Given the description of an element on the screen output the (x, y) to click on. 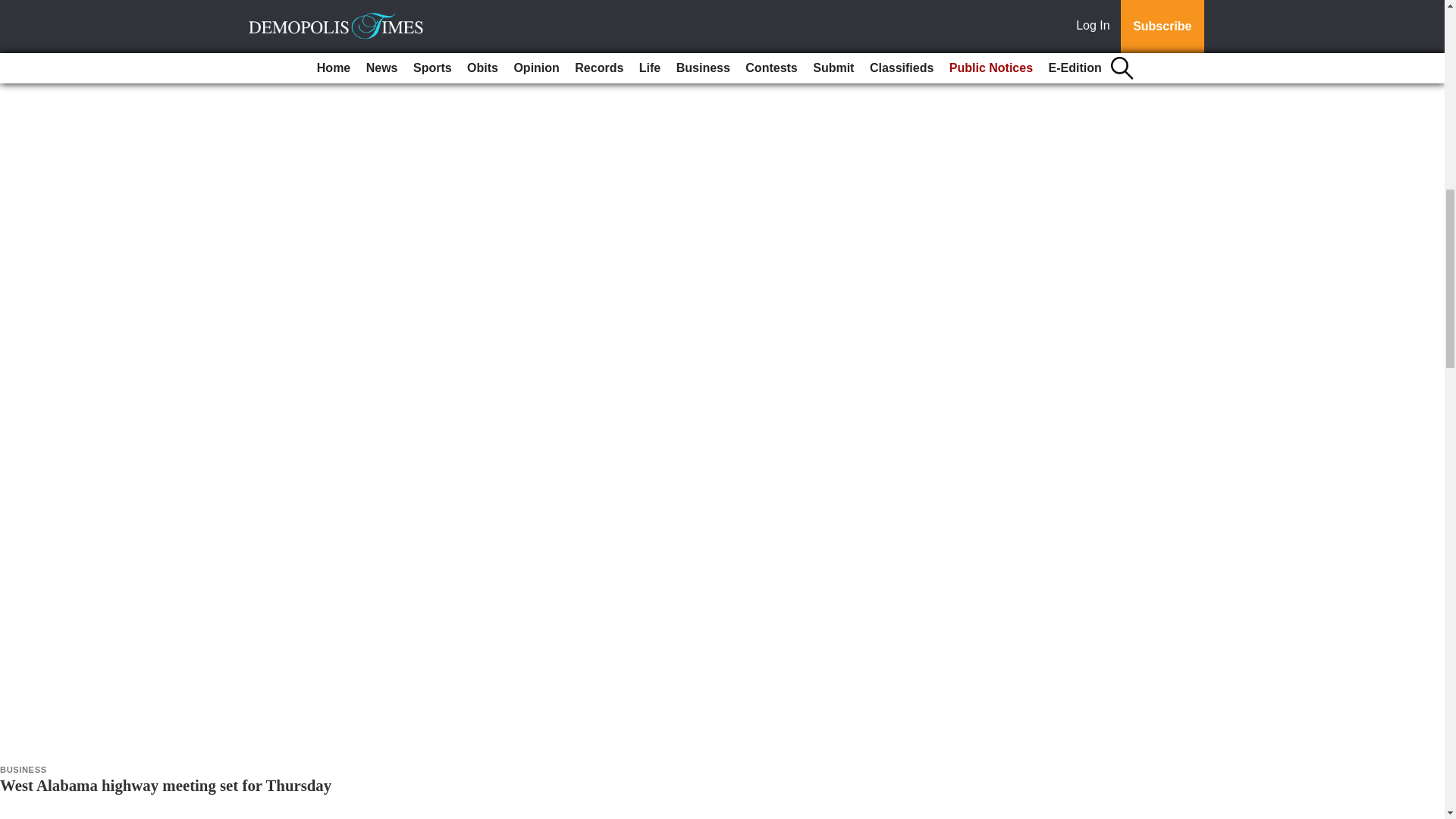
West Alabama highway meeting set for Thursday (165, 784)
West Alabama highway meeting set for Thursday (165, 784)
